Given the description of an element on the screen output the (x, y) to click on. 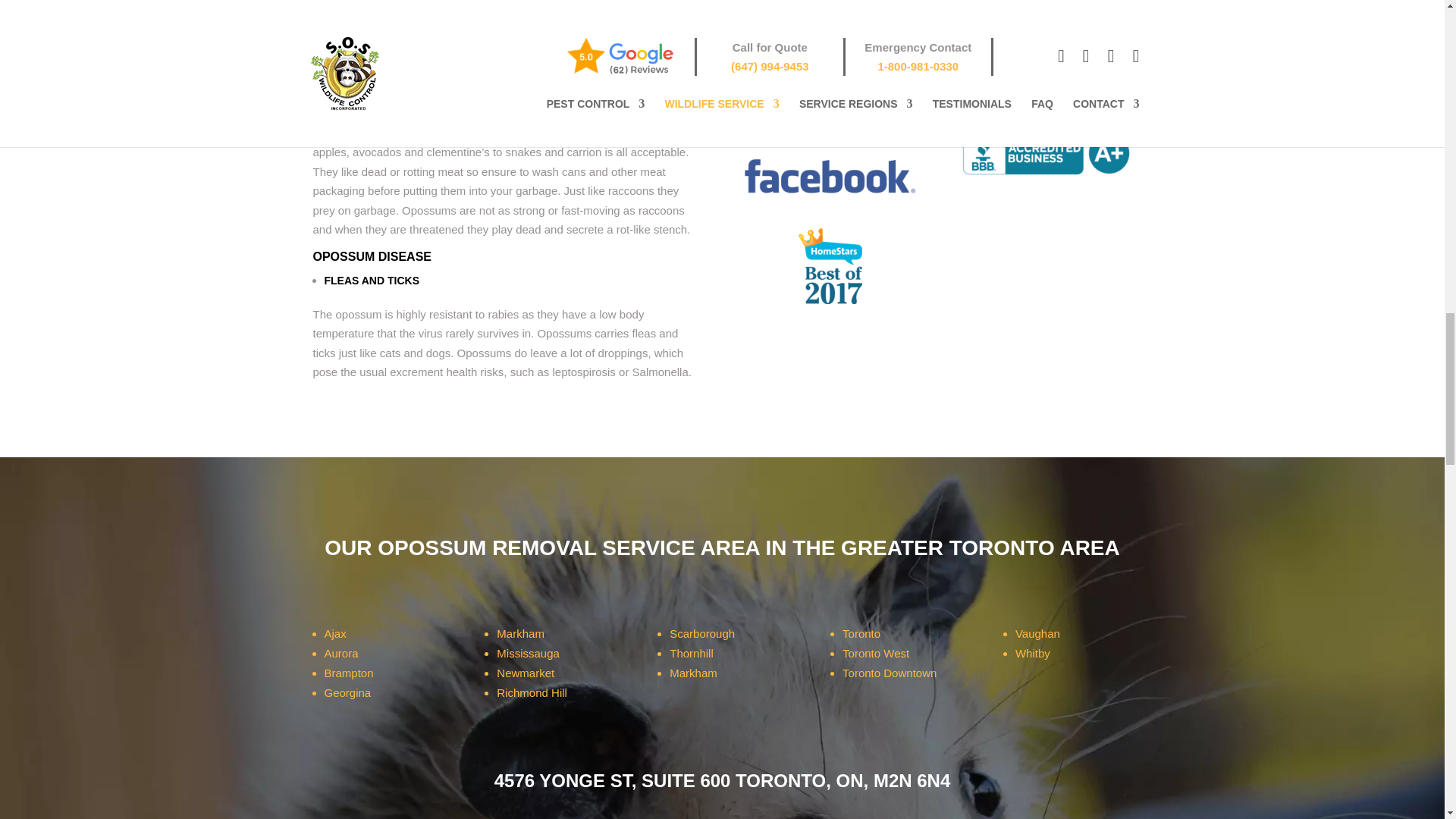
facebook-logo-big-300x100 (829, 176)
google-logo-big-300x100 (1045, 78)
bbb-a-plus-300x82 (1045, 152)
